Given the description of an element on the screen output the (x, y) to click on. 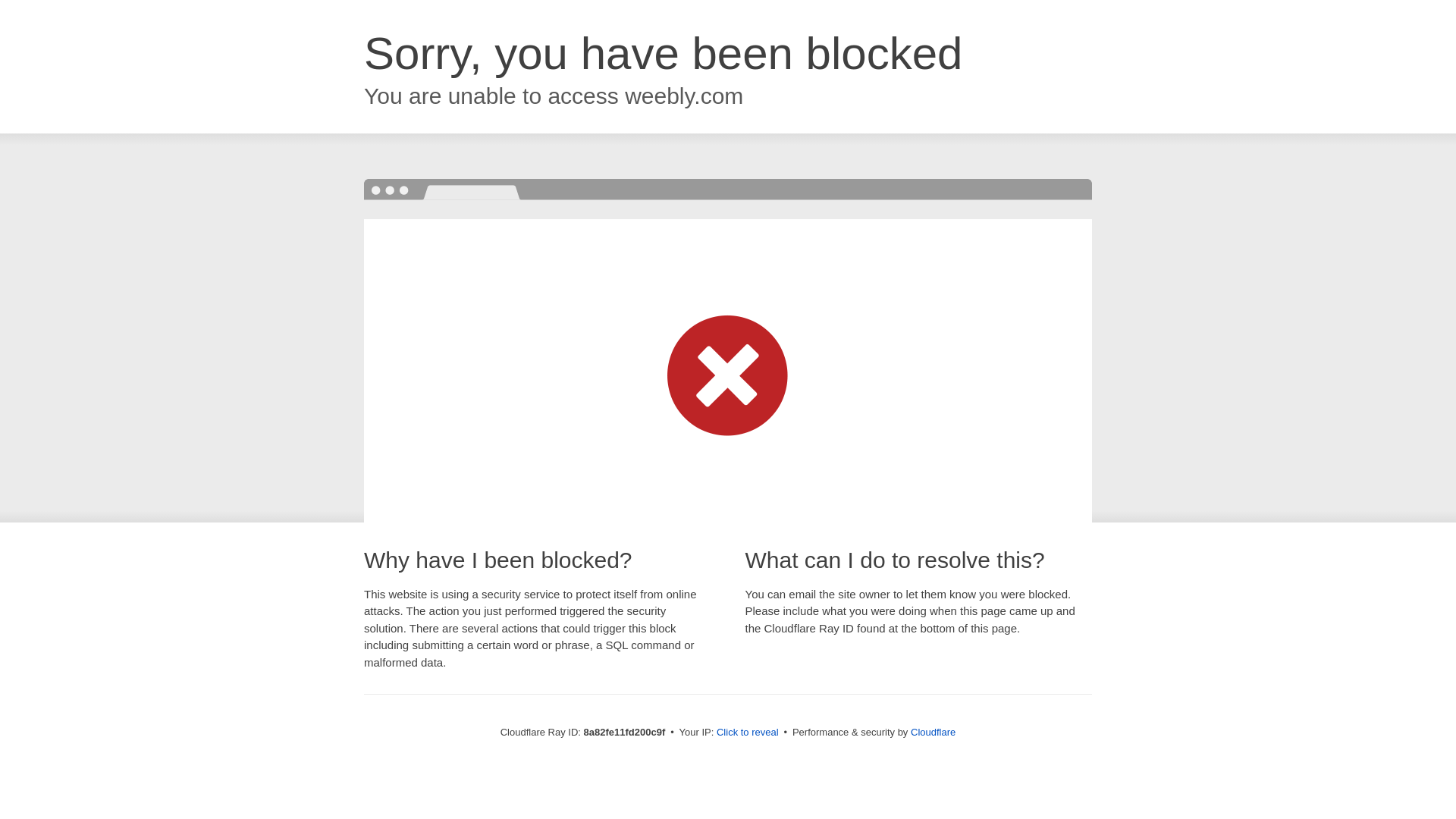
Click to reveal (747, 732)
Cloudflare (933, 731)
